Given the description of an element on the screen output the (x, y) to click on. 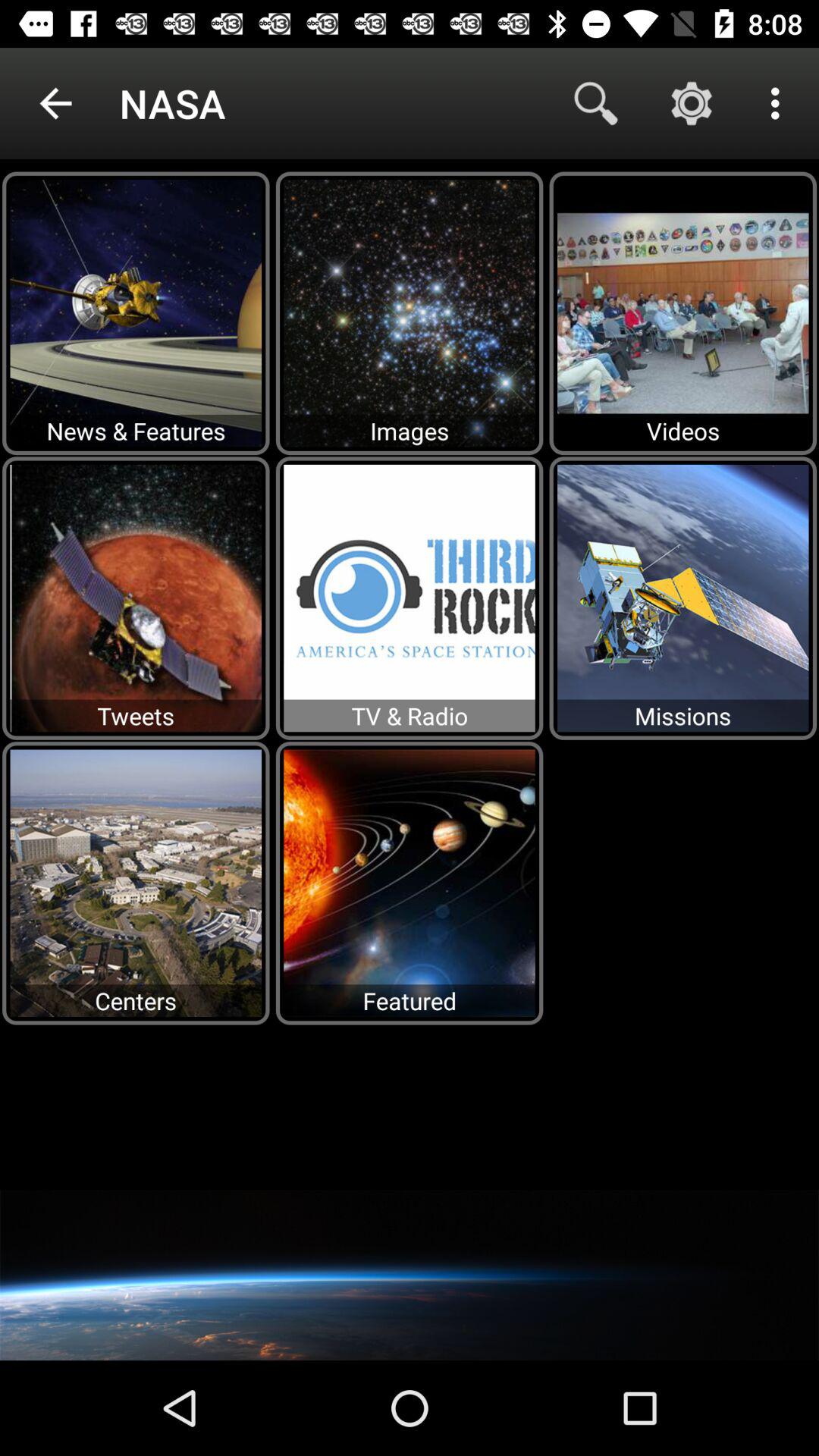
turn off item next to nasa icon (595, 103)
